Given the description of an element on the screen output the (x, y) to click on. 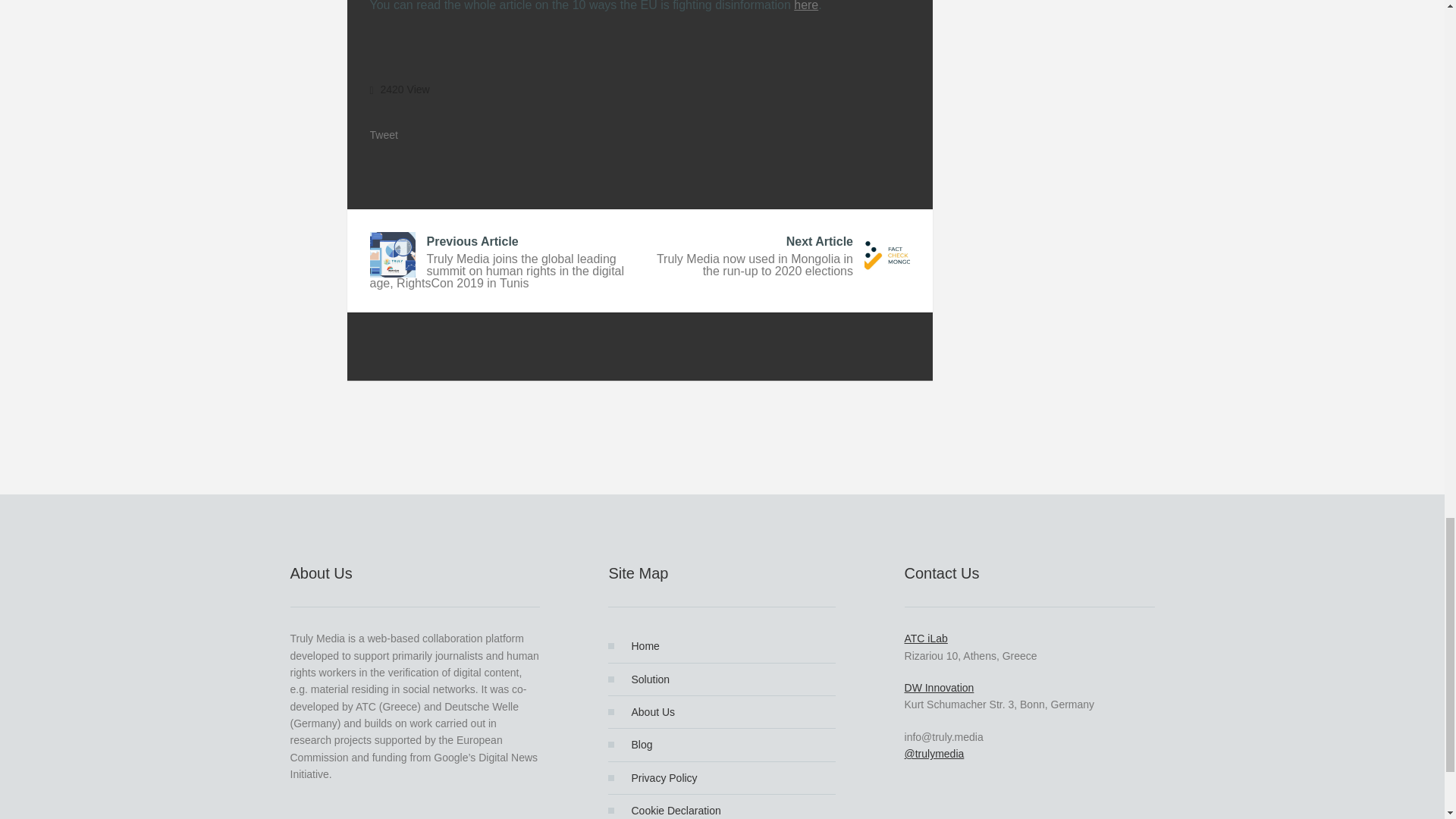
Tweet (403, 134)
here (805, 5)
